Given the description of an element on the screen output the (x, y) to click on. 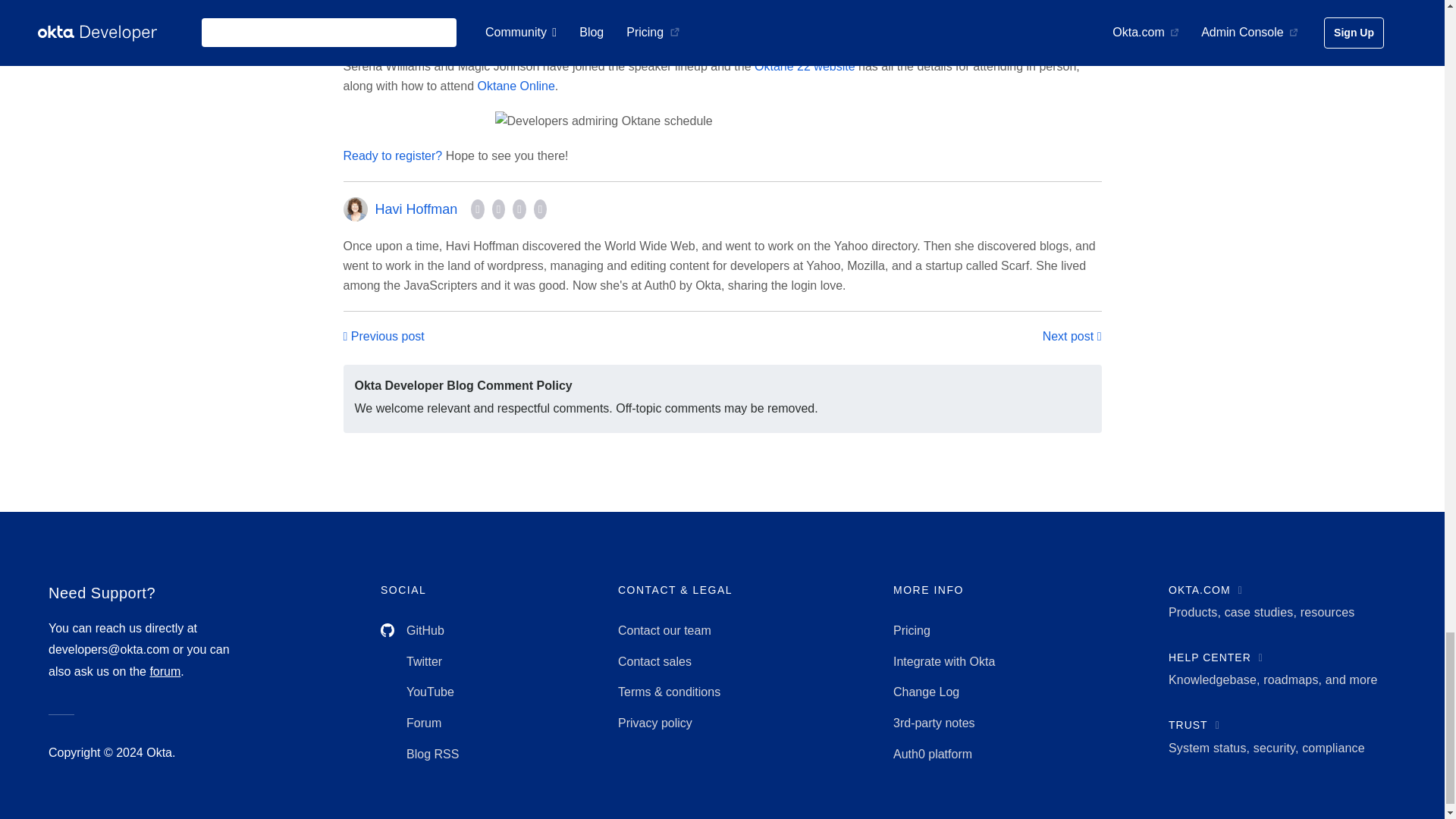
Quick JavaScript Authentication with OktaDev Schematics (1072, 336)
future of identity (465, 11)
Oktane 22 website (805, 65)
Integrate React Native and Spring Boot Securely (382, 336)
